Given the description of an element on the screen output the (x, y) to click on. 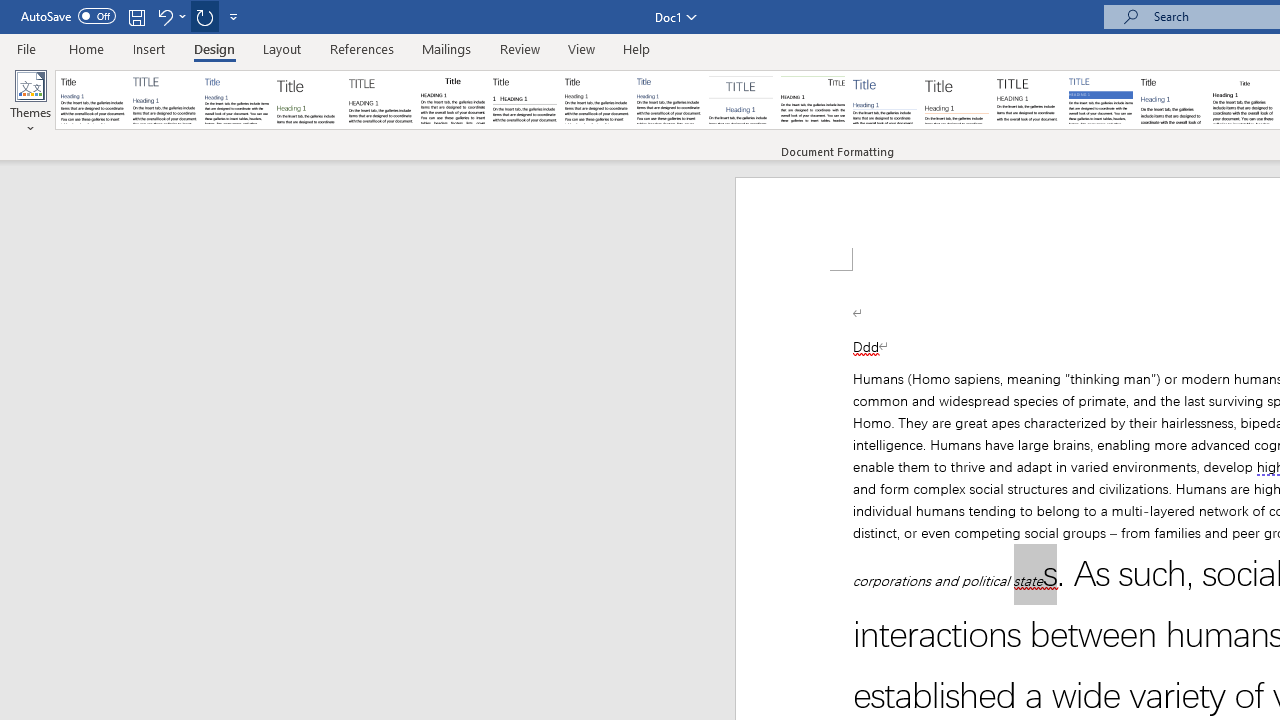
Minimalist (1028, 100)
Lines (Stylish) (957, 100)
Word (1172, 100)
Basic (Stylish) (308, 100)
Centered (740, 100)
Basic (Simple) (236, 100)
Shaded (1100, 100)
Black & White (Numbered) (524, 100)
